Given the description of an element on the screen output the (x, y) to click on. 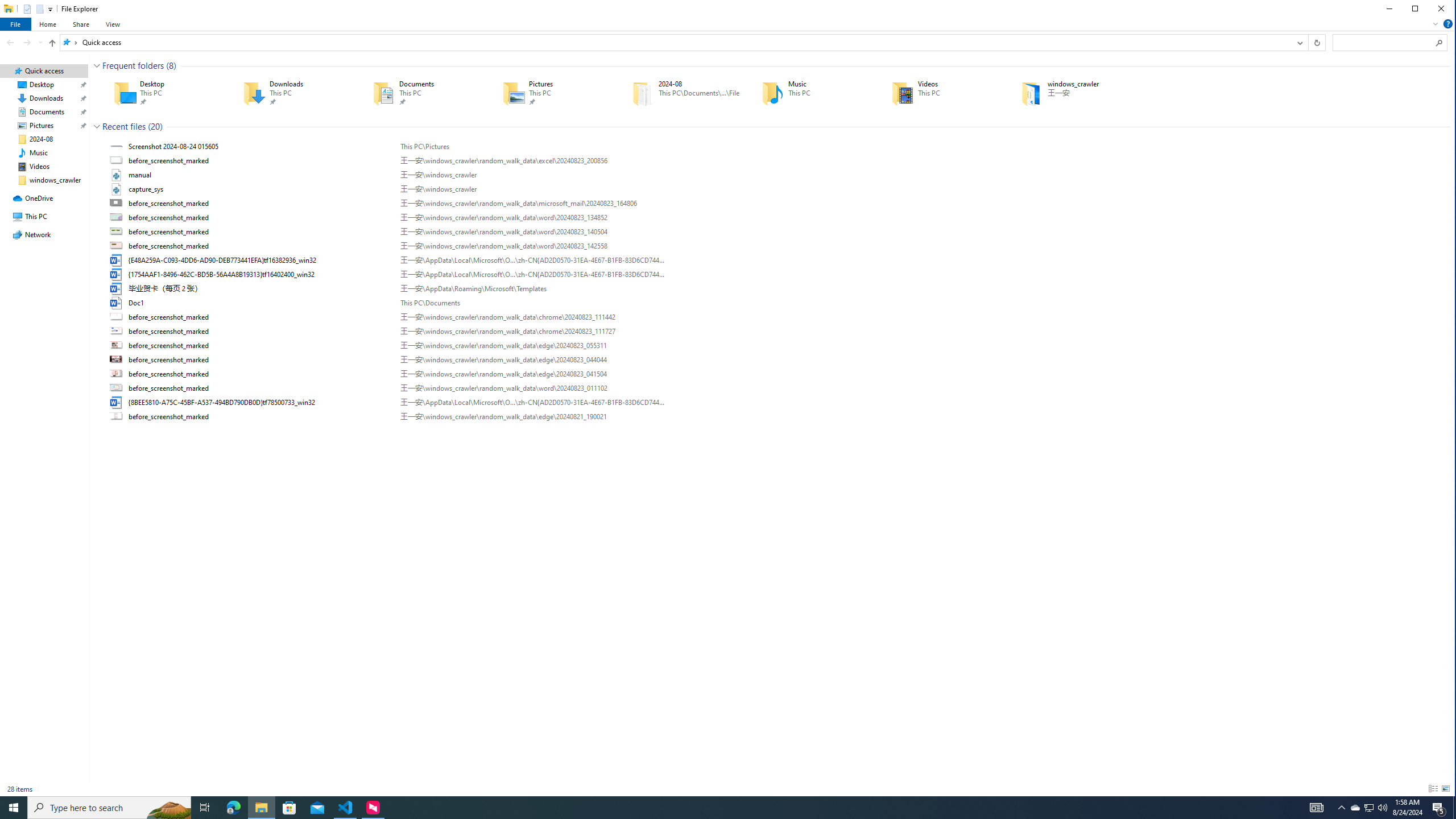
Share (81, 24)
2024-08 (680, 93)
Previous Locations (1299, 42)
Close (1441, 9)
Maximize (1415, 9)
Pinned (1088, 101)
Music (809, 93)
View (112, 24)
before_screenshot_marked (776, 416)
Name (260, 416)
Minimize the Ribbon (1435, 24)
All locations (69, 42)
Home (47, 24)
Large Icons (1445, 789)
